Given the description of an element on the screen output the (x, y) to click on. 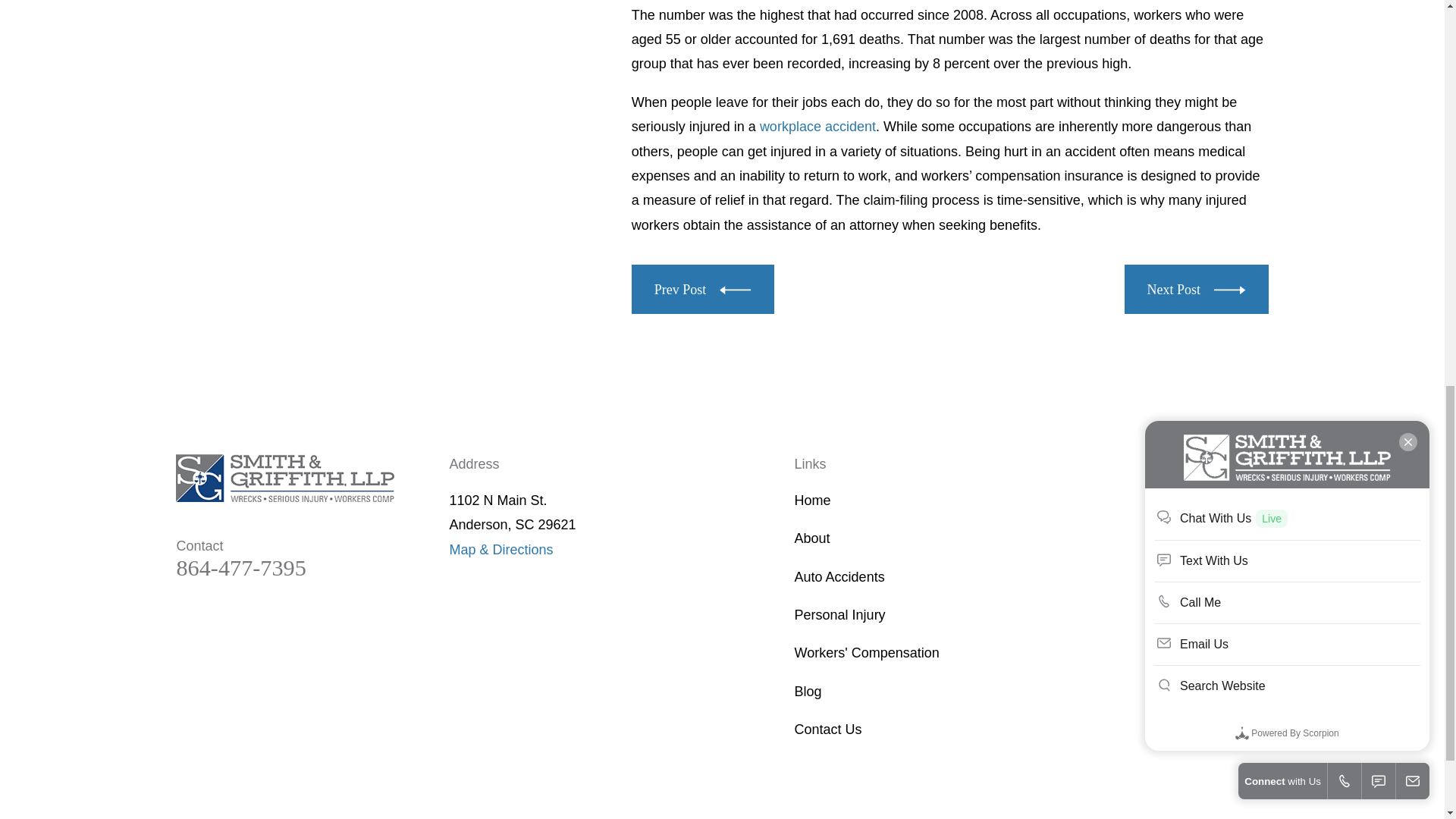
Facebook (1172, 503)
Twitter (1213, 503)
LinkedIn (1253, 503)
Home (285, 478)
